Given the description of an element on the screen output the (x, y) to click on. 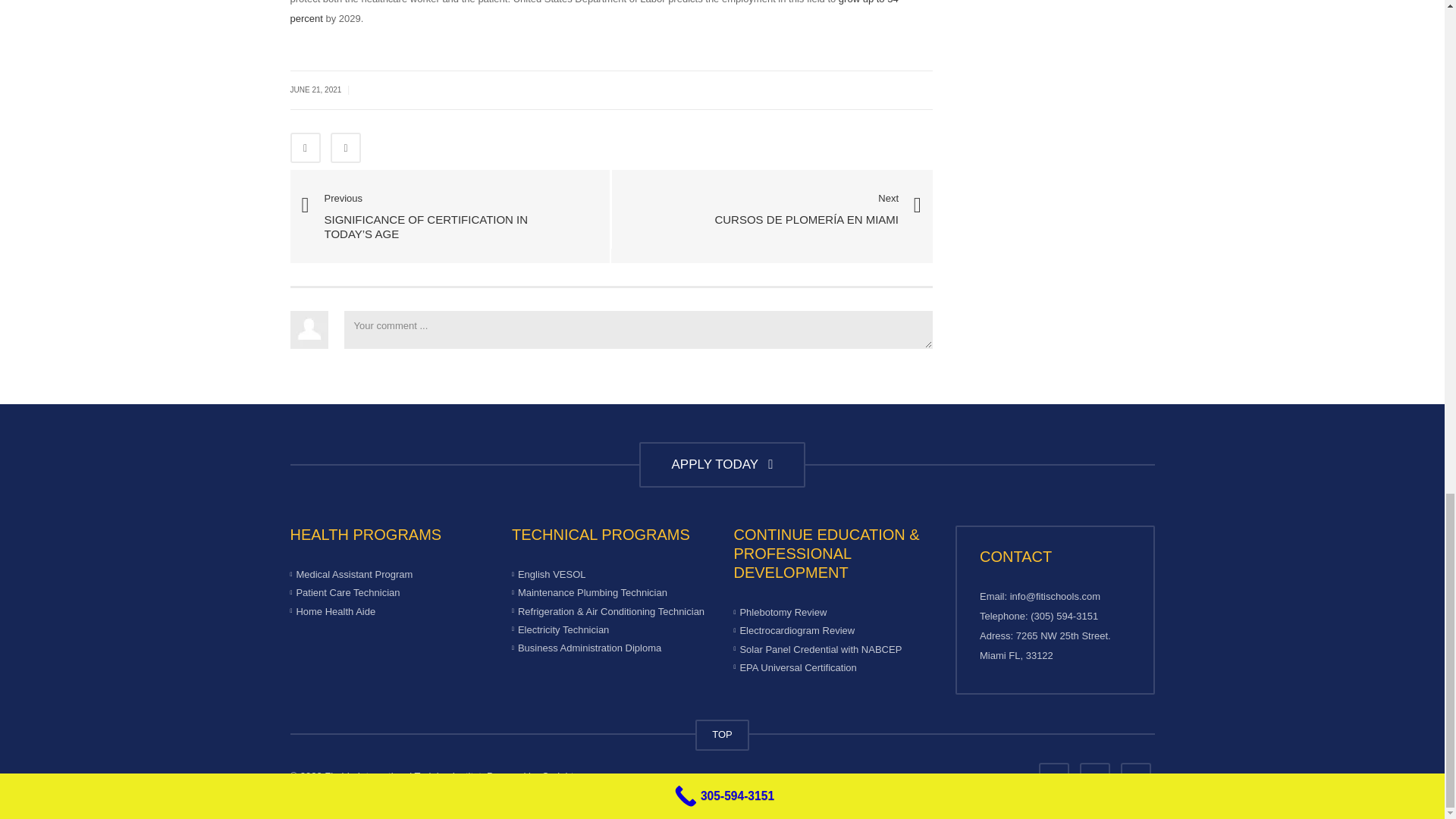
Share on Facebook (304, 147)
Share on Twitter (345, 147)
